Given the description of an element on the screen output the (x, y) to click on. 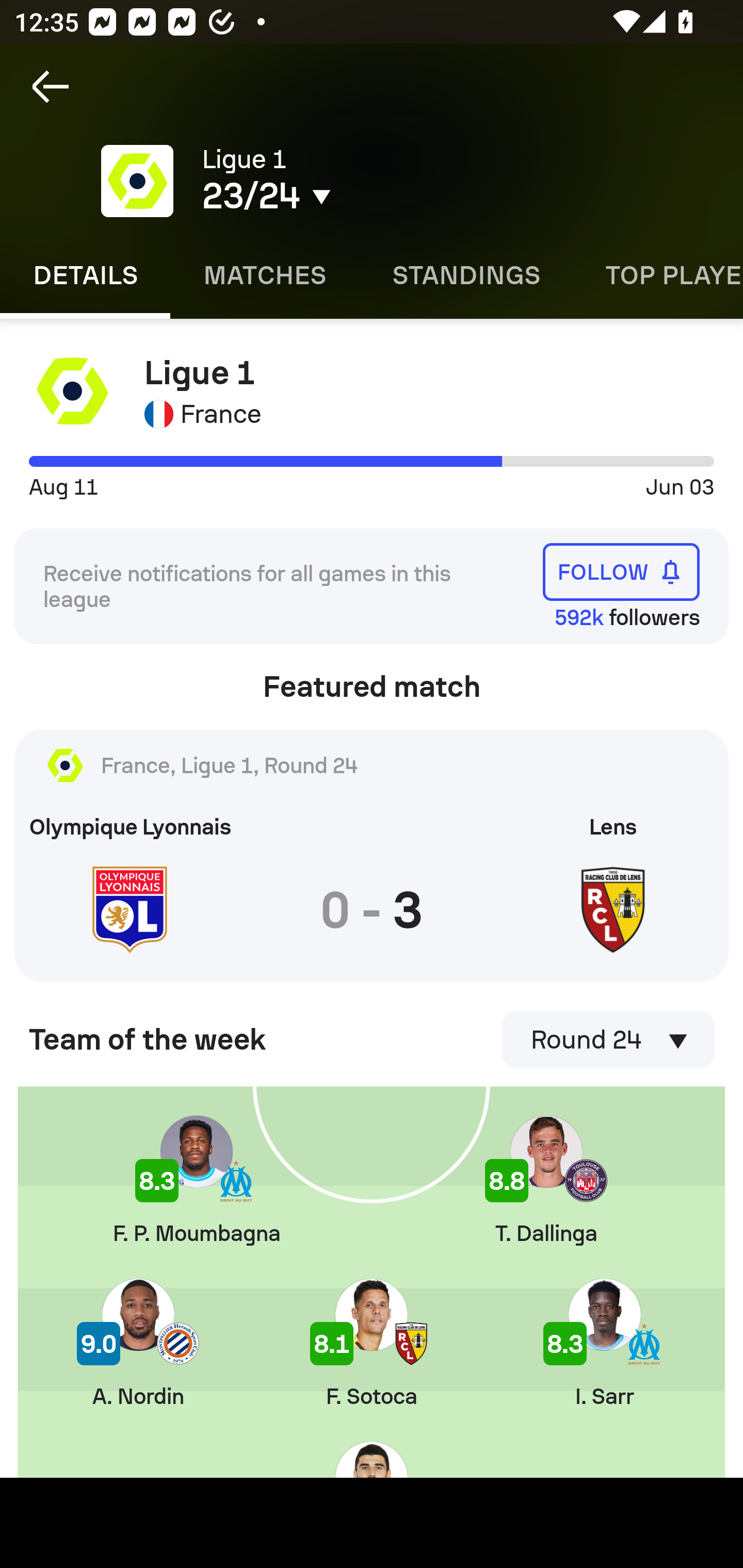
Navigate up (50, 86)
23/24 (350, 195)
Matches MATCHES (264, 275)
Standings STANDINGS (465, 275)
Top players TOP PLAYERS (657, 275)
FOLLOW (621, 571)
Round 24 (608, 1040)
F. P. Moumbagna (196, 1181)
T. Dallinga (546, 1181)
A. Nordin (137, 1343)
F. Sotoca (371, 1343)
I. Sarr (604, 1343)
